Given the description of an element on the screen output the (x, y) to click on. 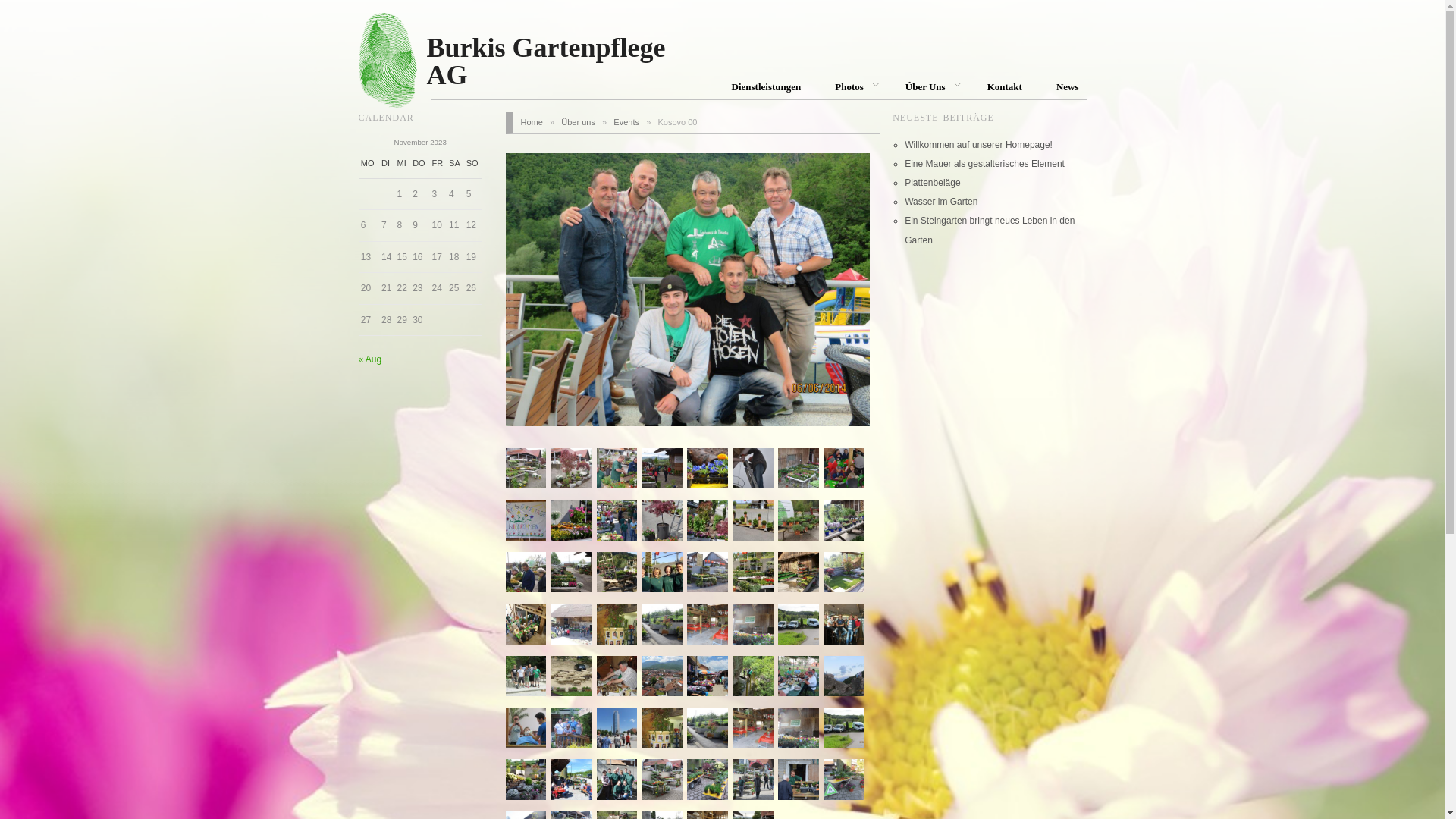
Kontakt Element type: text (1004, 86)
Ein Steingarten bringt neues Leben in den Garten Element type: text (989, 229)
Burkis Gartenpflege AG Element type: text (555, 49)
Dienstleistungen Element type: text (765, 86)
Home Element type: text (531, 121)
Wasser im Garten Element type: text (940, 201)
Eine Mauer als gestalterisches Element Element type: text (984, 163)
Willkommen auf unserer Homepage! Element type: text (978, 144)
News Element type: text (1067, 86)
Events Element type: text (626, 121)
Photos Element type: text (852, 86)
